Given the description of an element on the screen output the (x, y) to click on. 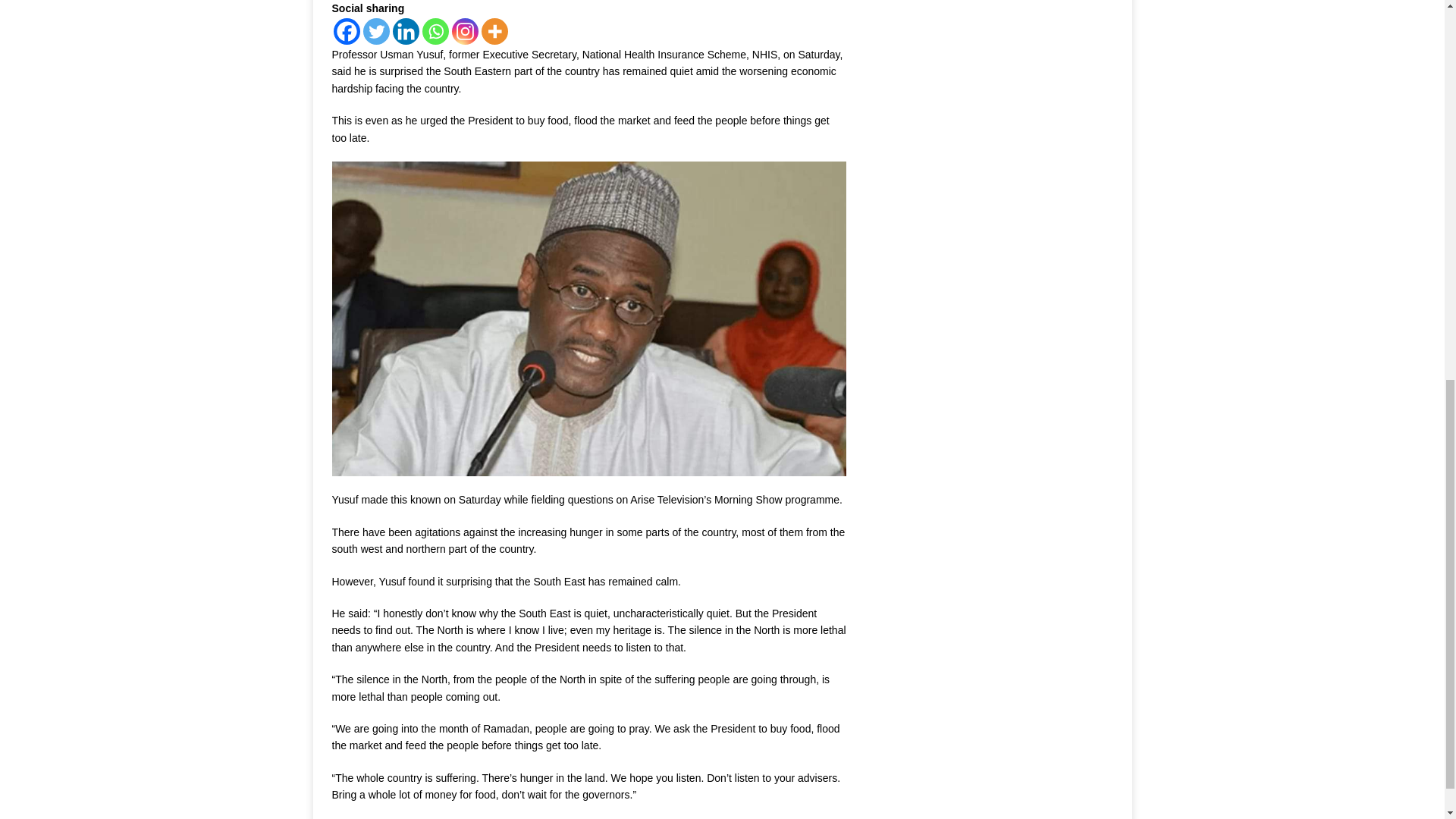
Whatsapp (435, 31)
More (493, 31)
Instagram (465, 31)
Linkedin (406, 31)
Facebook (346, 31)
Twitter (375, 31)
